Given the description of an element on the screen output the (x, y) to click on. 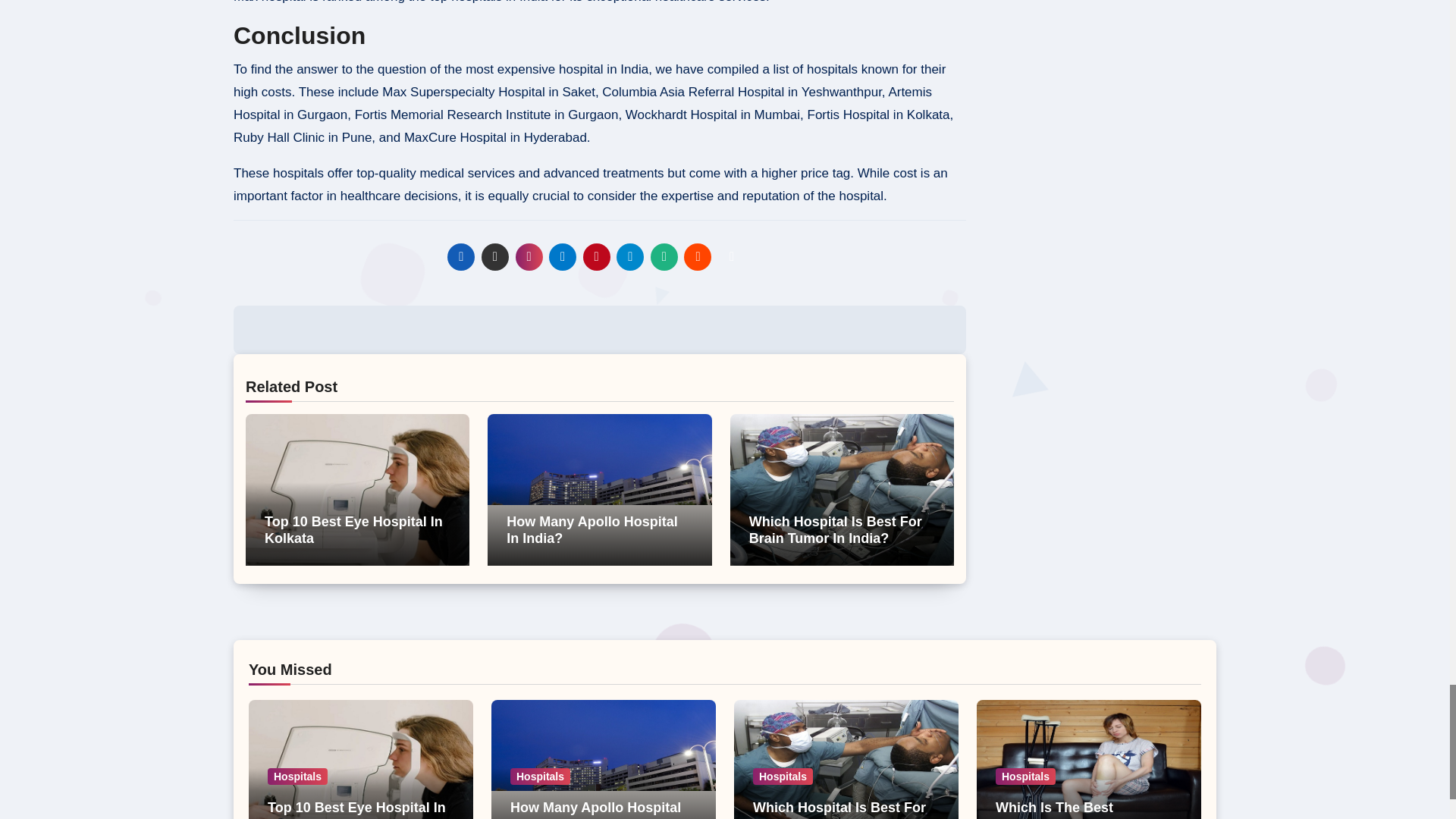
How Many Apollo Hospital In India? (591, 530)
Top 10 Best Eye Hospital In Kolkata (353, 530)
Permalink to: Top 10 Best Eye Hospital In Kolkata (353, 530)
Which Hospital Is Best For Brain Tumor In India? (835, 530)
Permalink to: How Many Apollo Hospital In India? (591, 530)
